Given the description of an element on the screen output the (x, y) to click on. 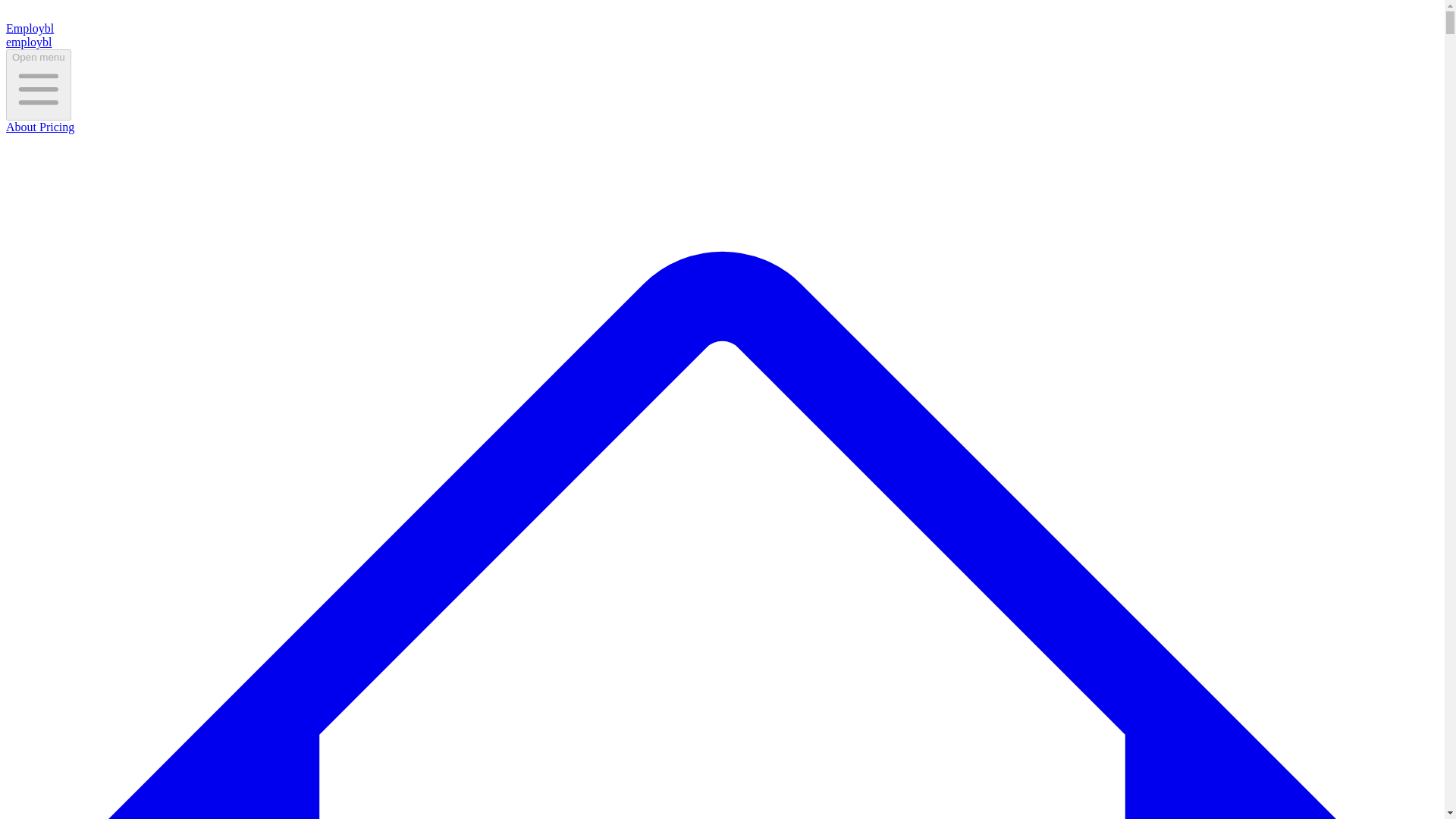
About (20, 126)
Pricing (55, 126)
Open menu (38, 84)
